Given the description of an element on the screen output the (x, y) to click on. 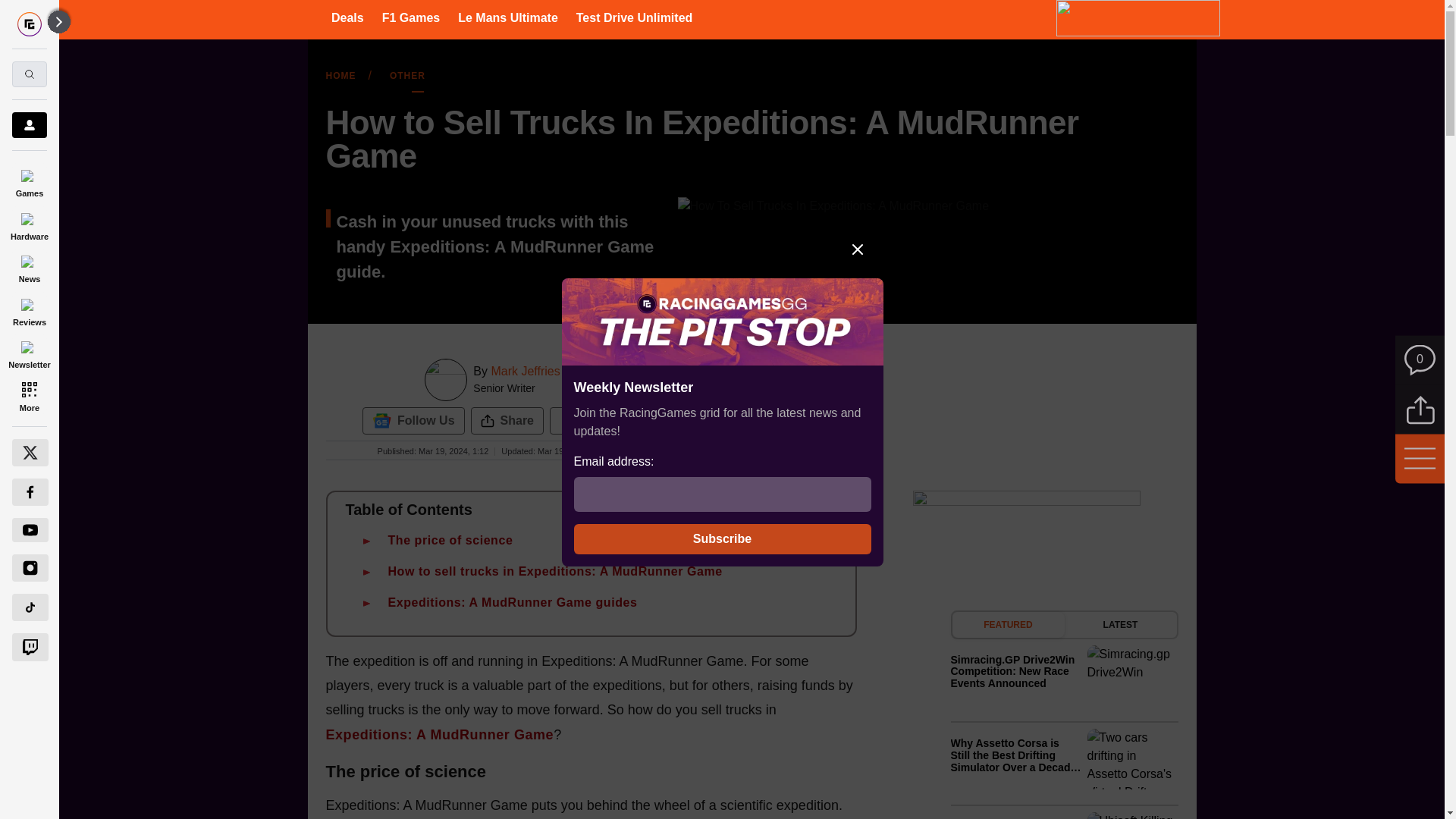
More (28, 395)
Test Drive Unlimited (634, 18)
Hardware (28, 224)
Le Mans Ultimate (507, 18)
F1 Games (410, 18)
News (28, 266)
Newsletter (28, 352)
Deals (347, 18)
Latest News (1063, 714)
Reviews (28, 309)
Games (28, 180)
